Given the description of an element on the screen output the (x, y) to click on. 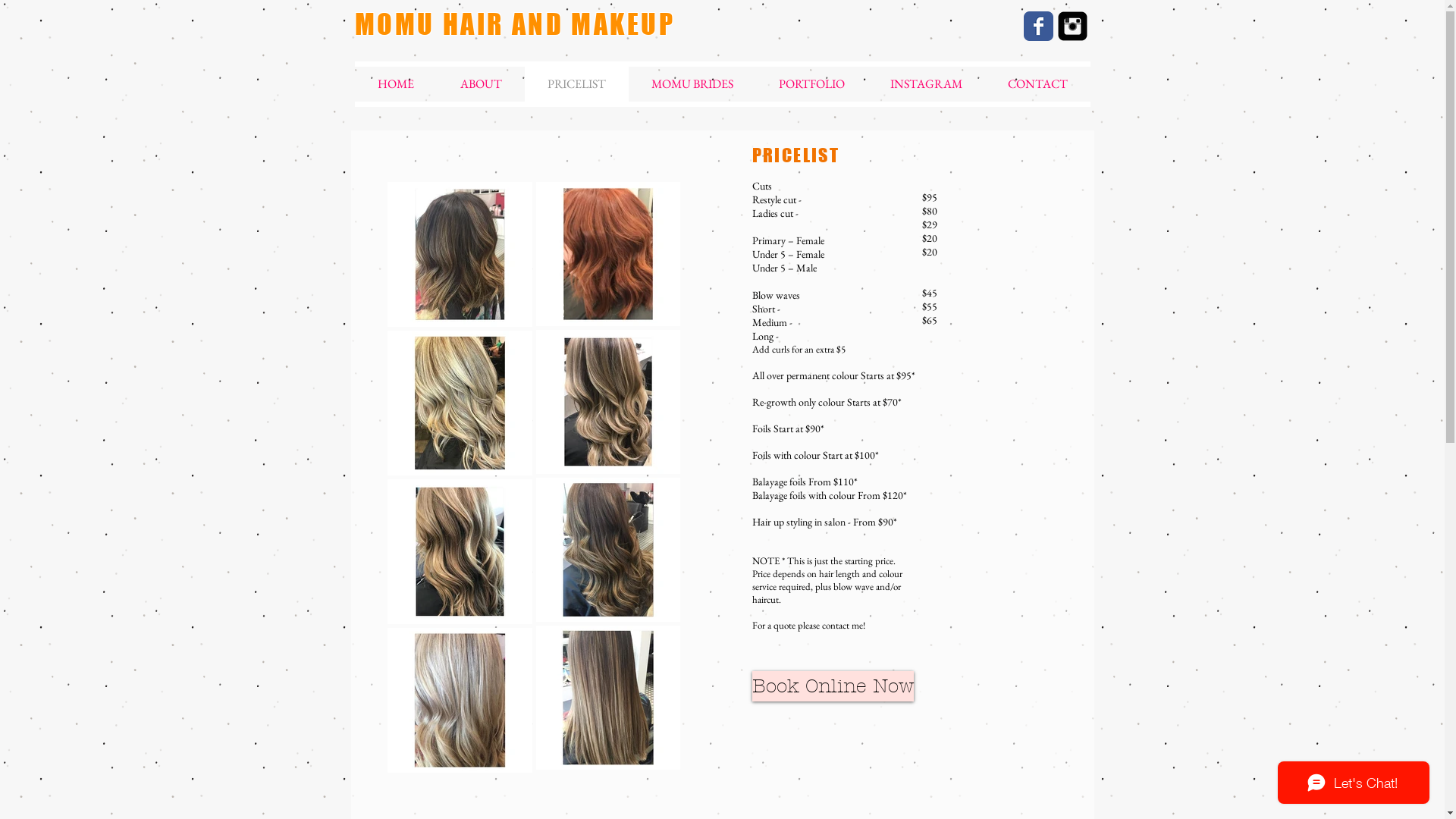
Book Online Now Element type: text (832, 686)
MOMU BRIDES Element type: text (691, 83)
CONTACT Element type: text (1036, 83)
HOME Element type: text (395, 83)
PRICELIST Element type: text (576, 83)
INSTAGRAM Element type: text (926, 83)
PORTFOLIO Element type: text (810, 83)
ABOUT Element type: text (480, 83)
